Given the description of an element on the screen output the (x, y) to click on. 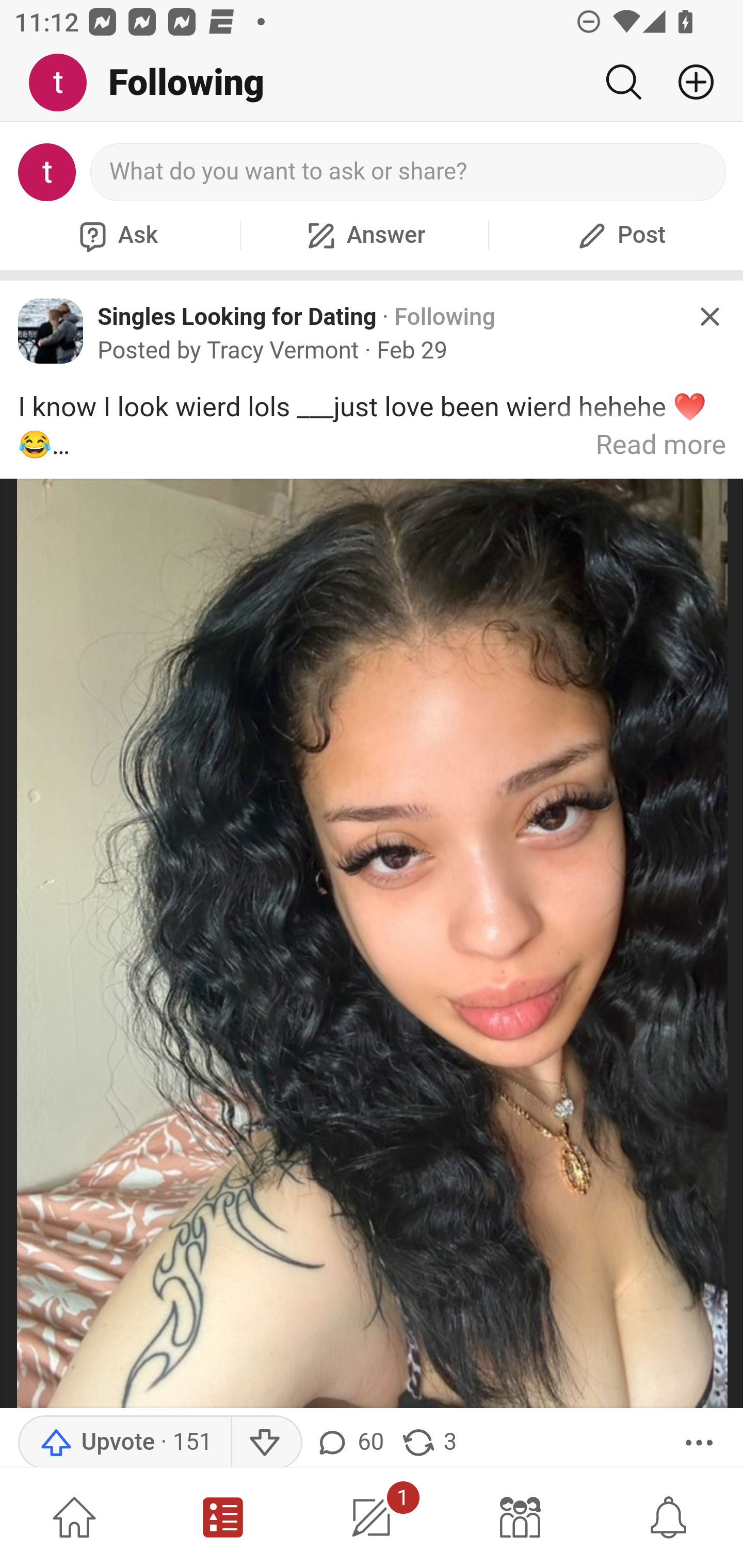
Me (64, 83)
Search (623, 82)
Add (688, 82)
What do you want to ask or share? (408, 172)
Ask (116, 234)
Answer (364, 234)
Post (618, 234)
Hide (709, 316)
Icon for Singles Looking for Dating (50, 330)
Singles Looking for Dating (237, 315)
Upvote (124, 1441)
Downvote (266, 1441)
60 comments (352, 1441)
3 shares (428, 1441)
More (699, 1441)
1 (371, 1517)
